Given the description of an element on the screen output the (x, y) to click on. 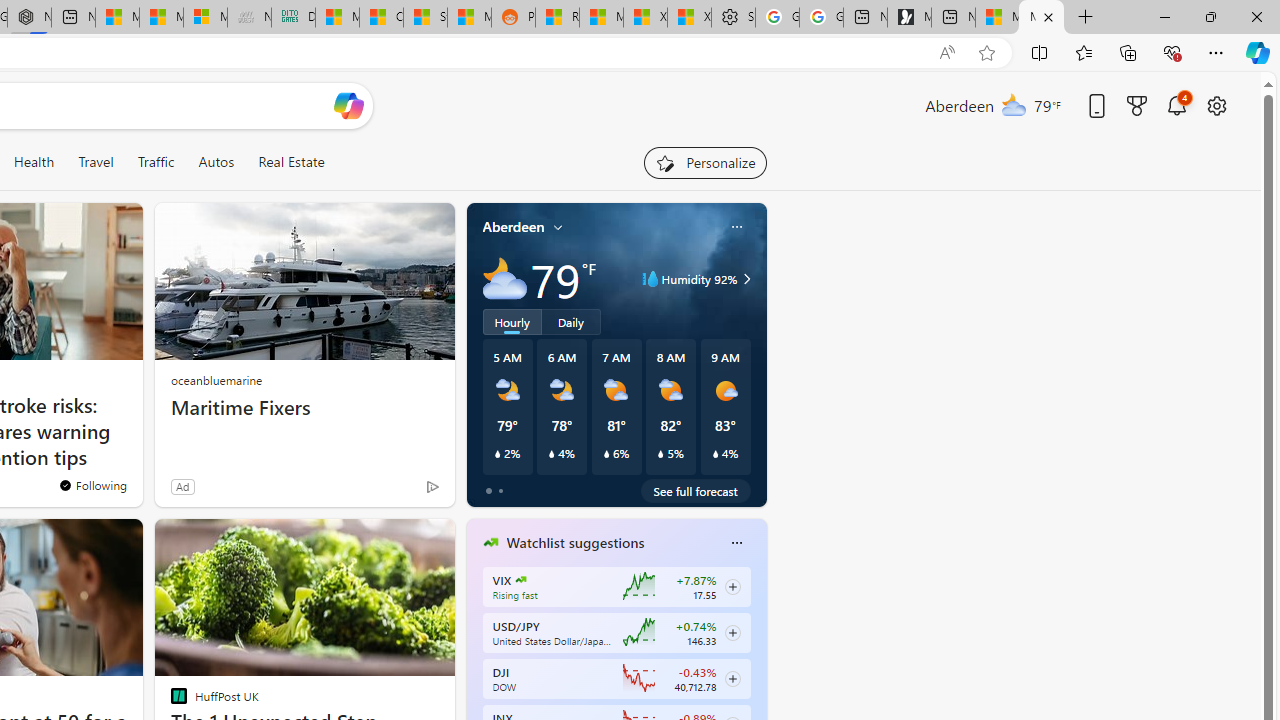
Daily (571, 321)
My location (558, 227)
Mostly cloudy (504, 278)
